Given the description of an element on the screen output the (x, y) to click on. 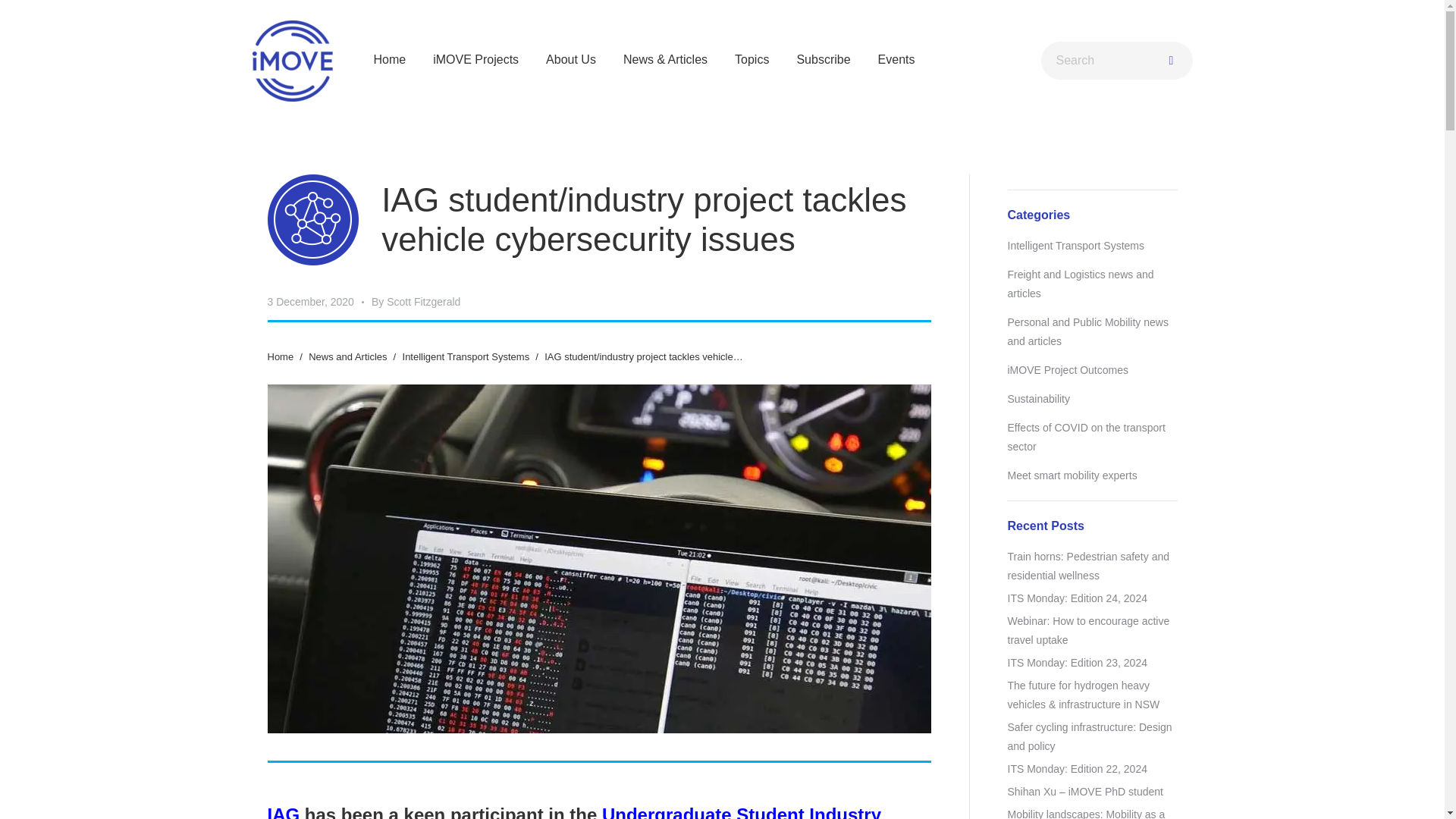
View all posts by Scott Fitzgerald (416, 301)
Intelligent Transport Systems (466, 356)
News and Articles (347, 356)
iMOVE ITS icon 240px (312, 219)
iMOVE Projects (475, 55)
Home (280, 356)
Search form (1116, 60)
